Given the description of an element on the screen output the (x, y) to click on. 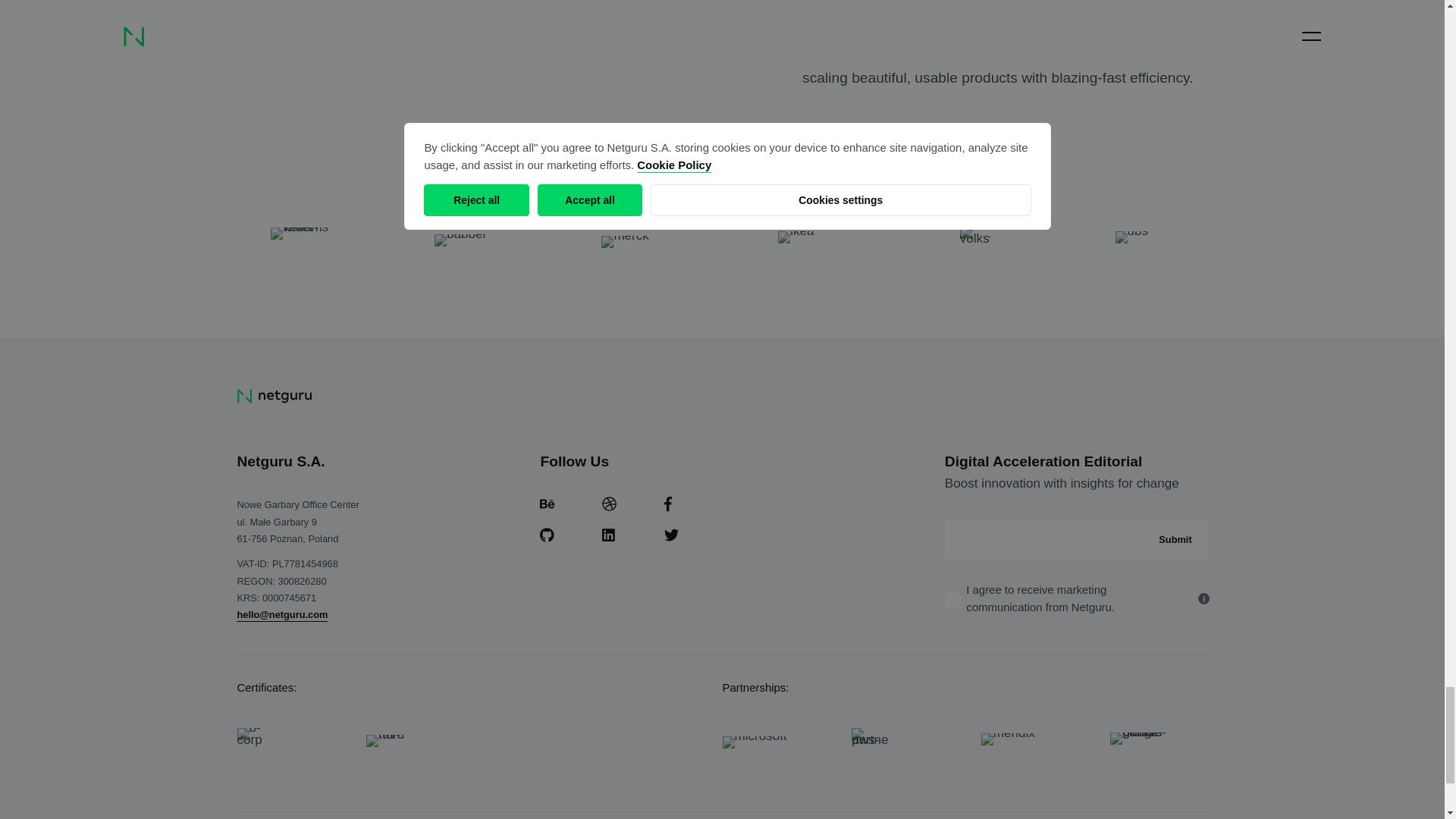
Submit (1174, 539)
